Given the description of an element on the screen output the (x, y) to click on. 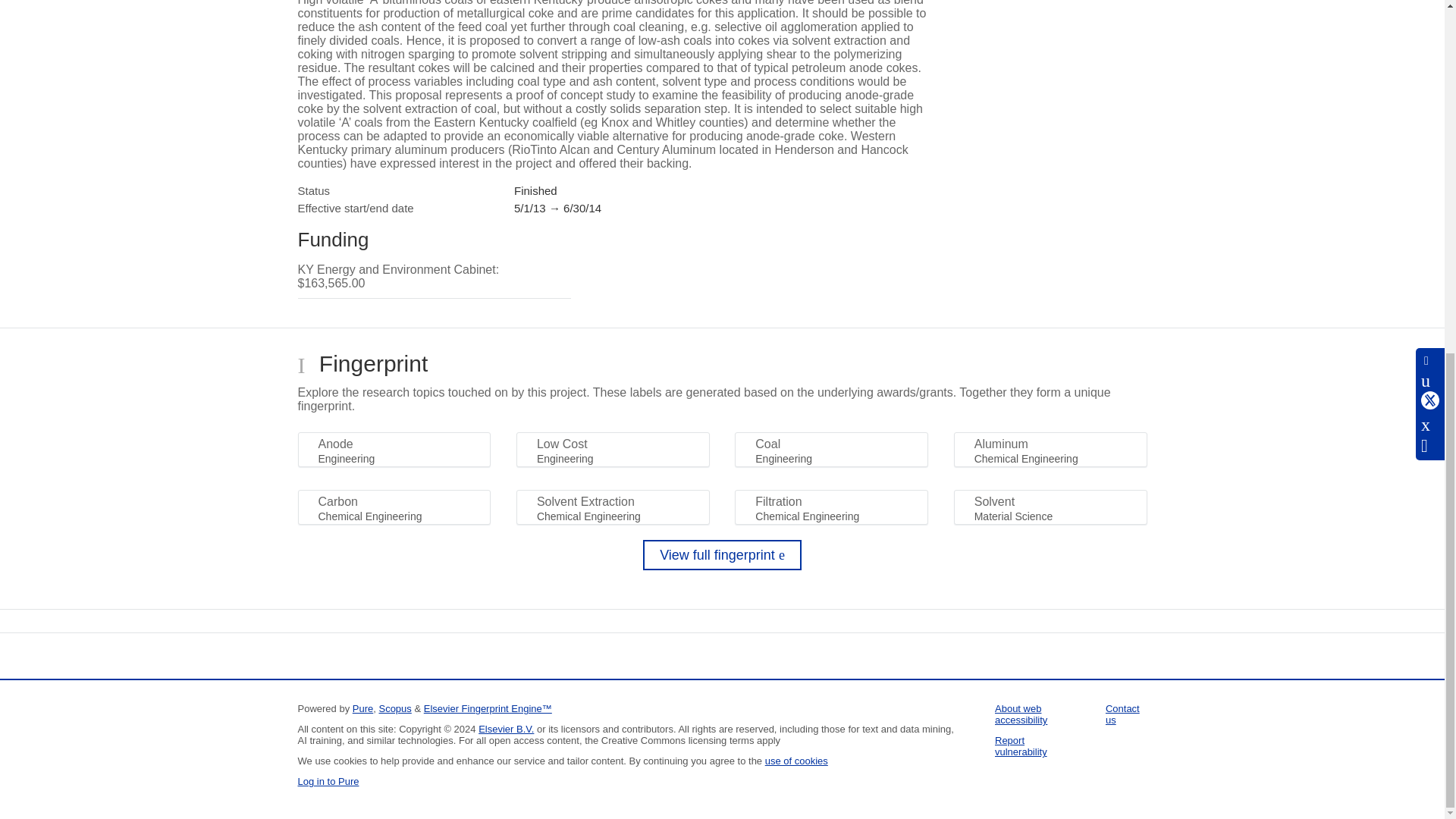
View full fingerprint (722, 554)
Pure (362, 708)
Scopus (394, 708)
Elsevier B.V. (506, 728)
use of cookies (796, 760)
Log in to Pure (327, 781)
